Given the description of an element on the screen output the (x, y) to click on. 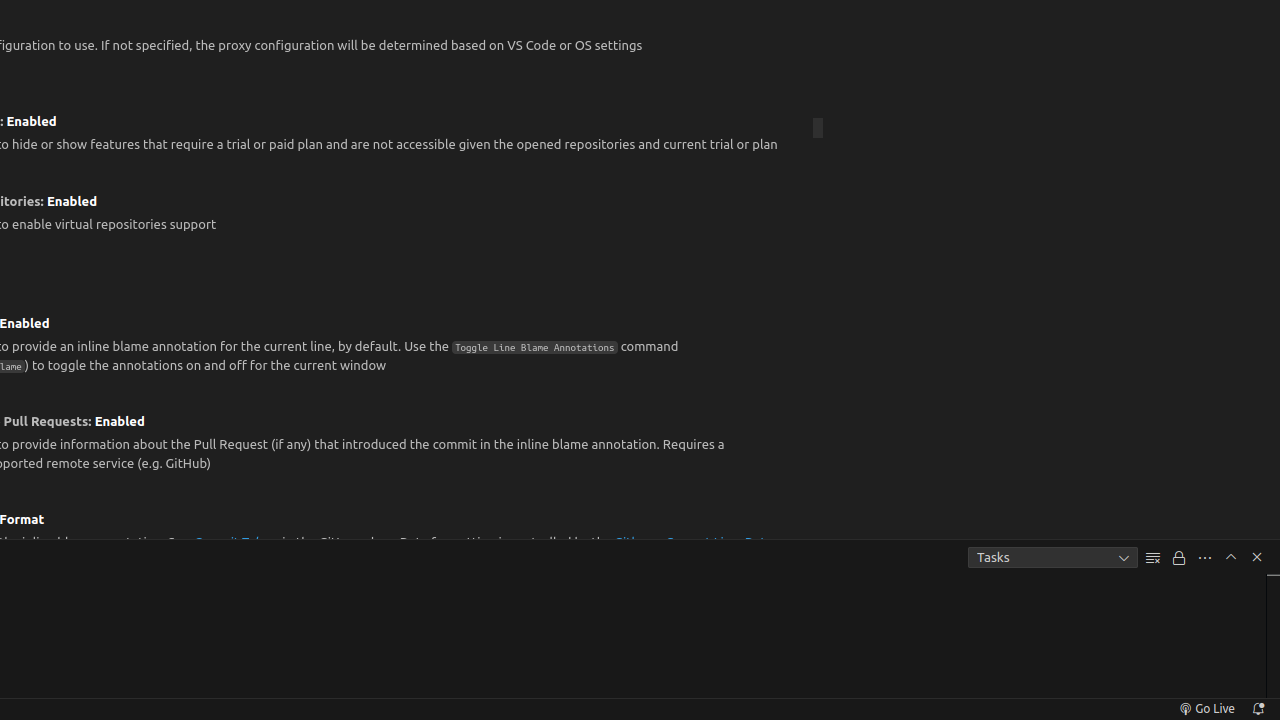
Notifications Element type: push-button (1258, 709)
Hide Panel Element type: push-button (1257, 557)
Turn Auto Scrolling Off Element type: check-box (1179, 557)
Maximize Panel Size Element type: check-box (1231, 557)
